Given the description of an element on the screen output the (x, y) to click on. 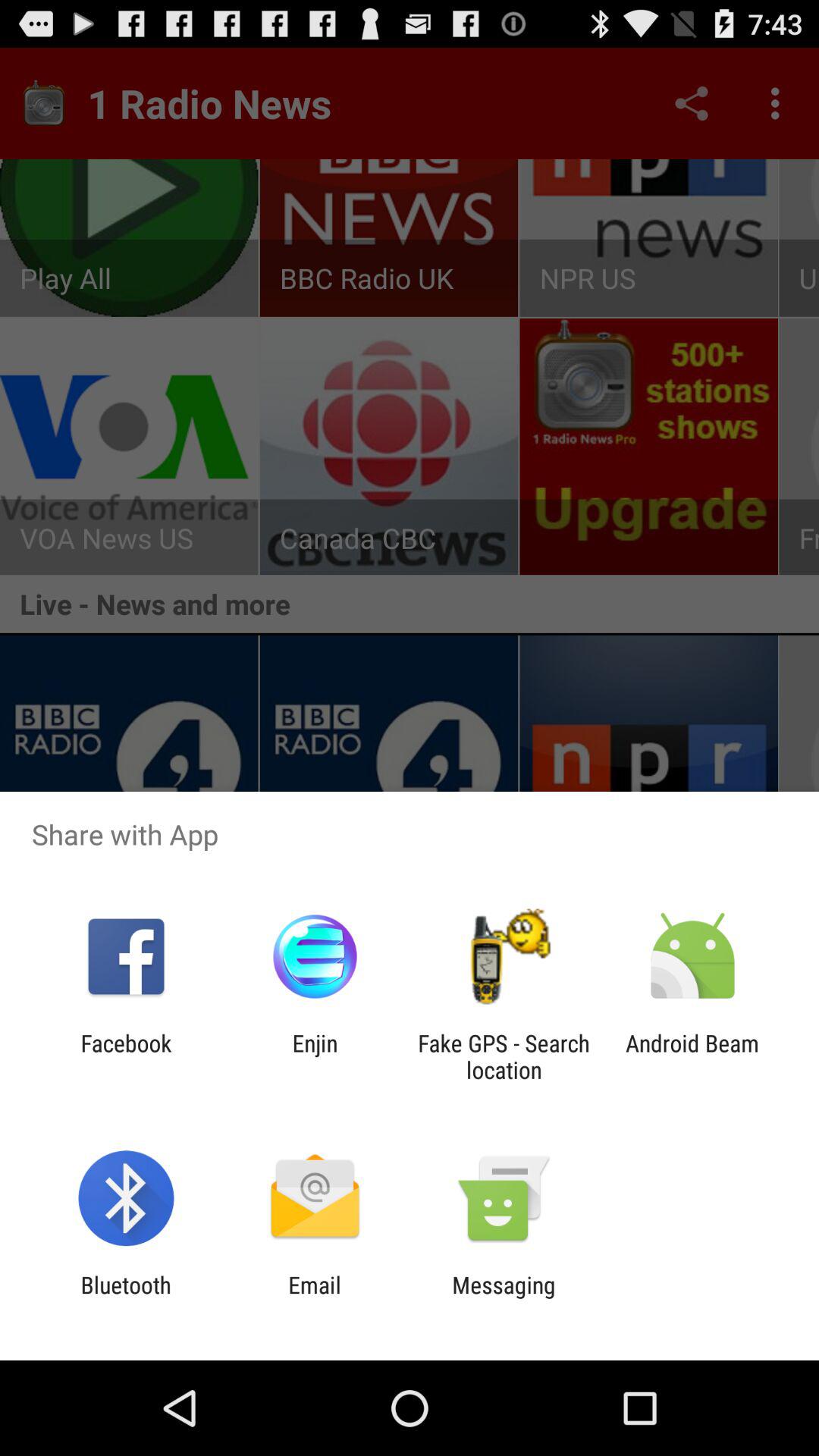
jump to android beam app (692, 1056)
